Given the description of an element on the screen output the (x, y) to click on. 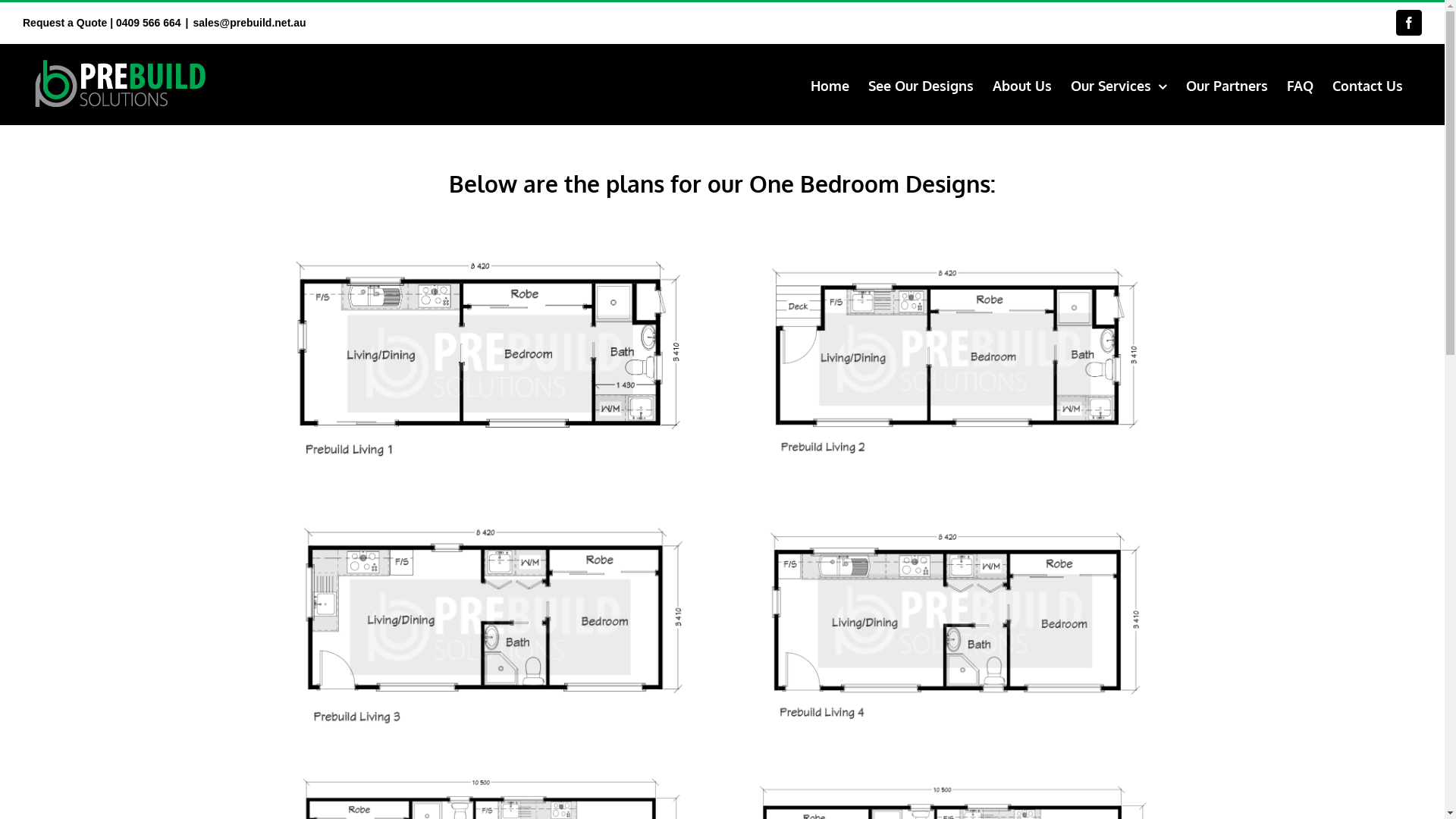
About Us Element type: text (1021, 83)
Rebuilder Plans-Floor Plan Element type: hover (488, 506)
Rebuilder Plans-Floor Plan Element type: hover (488, 246)
See Our Designs Element type: text (920, 83)
Our Services Element type: text (1118, 83)
Rebuilder Plans-Floor Plan Element type: hover (954, 506)
sales@prebuild.net.au Element type: text (249, 22)
Rebuilder Plans-Floor Plan Element type: hover (954, 246)
Rebuilder Plans-Floor Plan Element type: hover (954, 773)
Rebuilder Plans-Floor Plan Element type: hover (488, 773)
0409 566 664 Element type: text (148, 22)
FAQ Element type: text (1299, 83)
Our Partners Element type: text (1226, 83)
Facebook Element type: text (1408, 22)
Request a Quote Element type: text (64, 22)
Contact Us Element type: text (1367, 83)
Home Element type: text (829, 83)
